Given the description of an element on the screen output the (x, y) to click on. 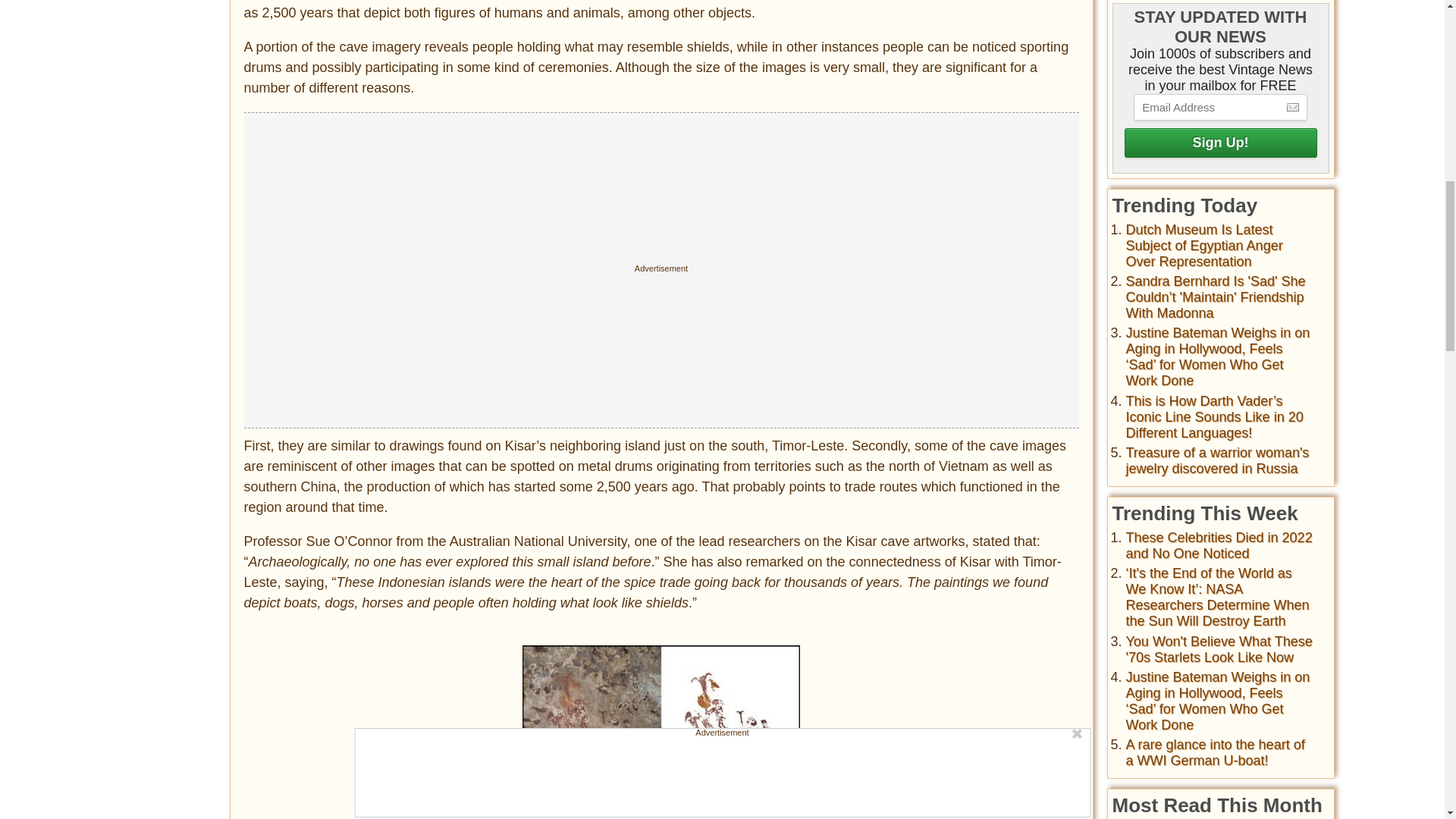
Sign Up! (1220, 142)
